Given the description of an element on the screen output the (x, y) to click on. 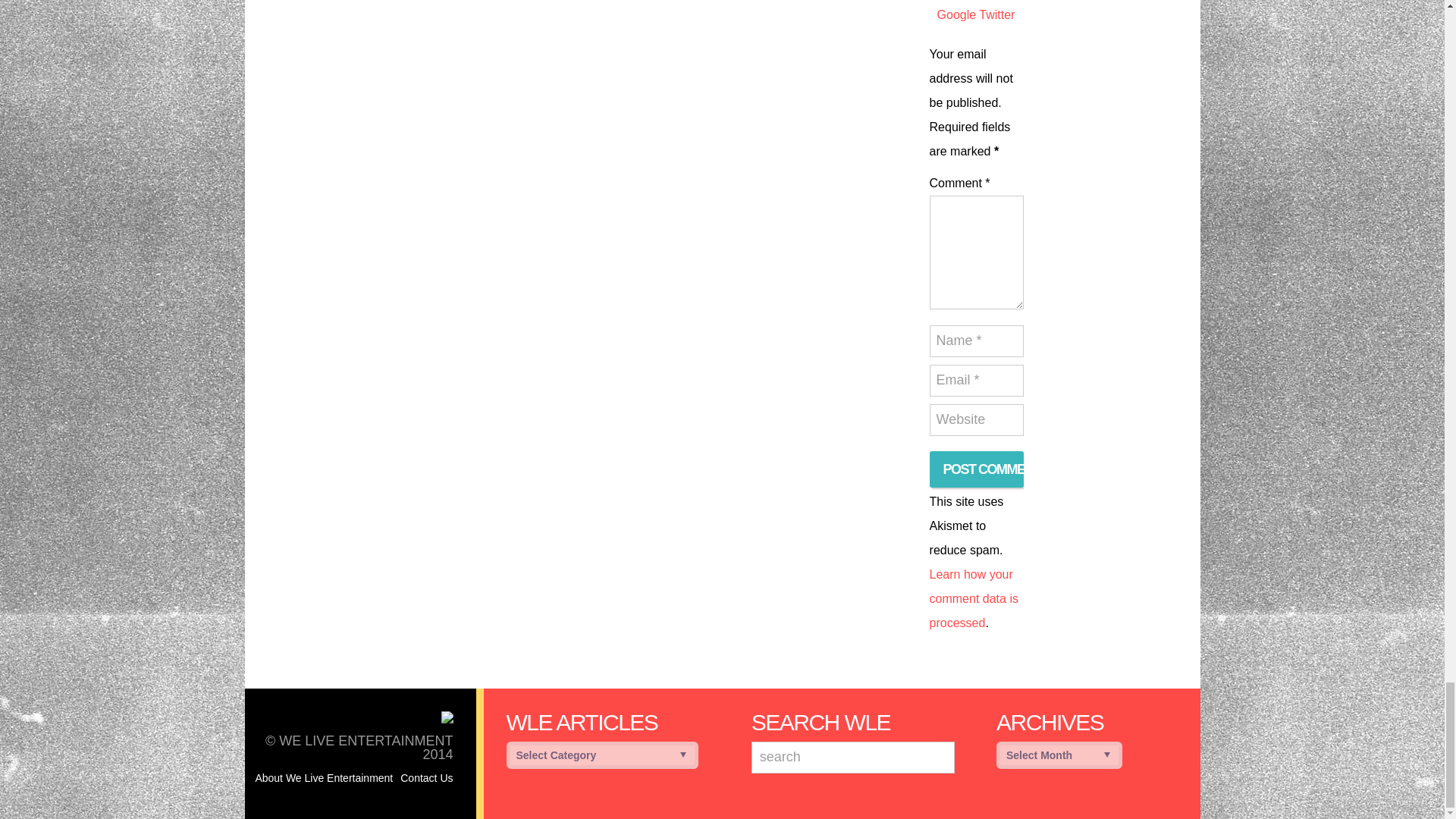
Post Comment (977, 469)
